Given the description of an element on the screen output the (x, y) to click on. 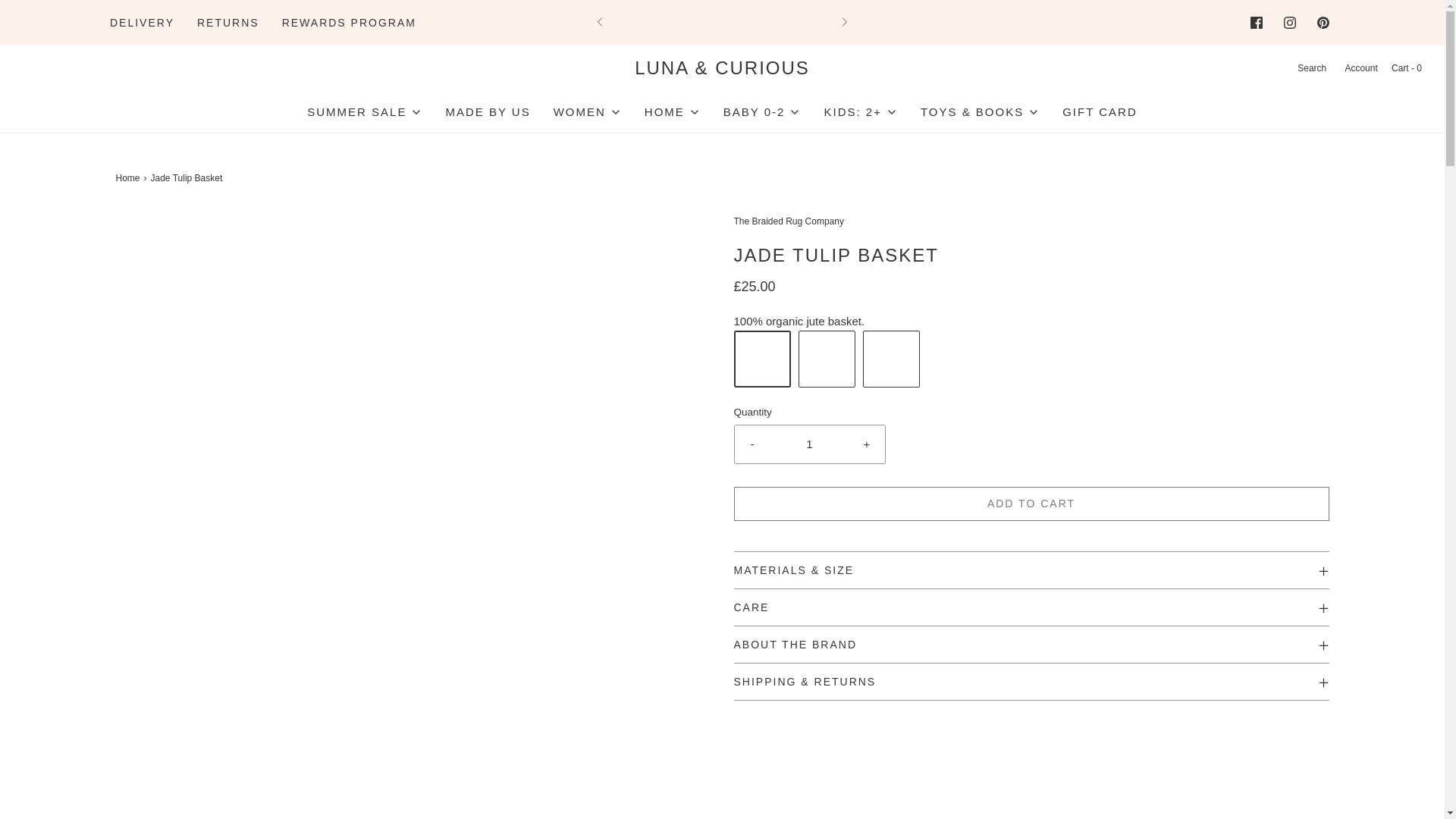
REWARDS PROGRAM (349, 22)
RETURNS (227, 22)
Back to the frontpage (128, 178)
1 (809, 444)
DELIVERY (142, 22)
Log in (1359, 68)
Cart (1405, 68)
Search (1310, 68)
